Given the description of an element on the screen output the (x, y) to click on. 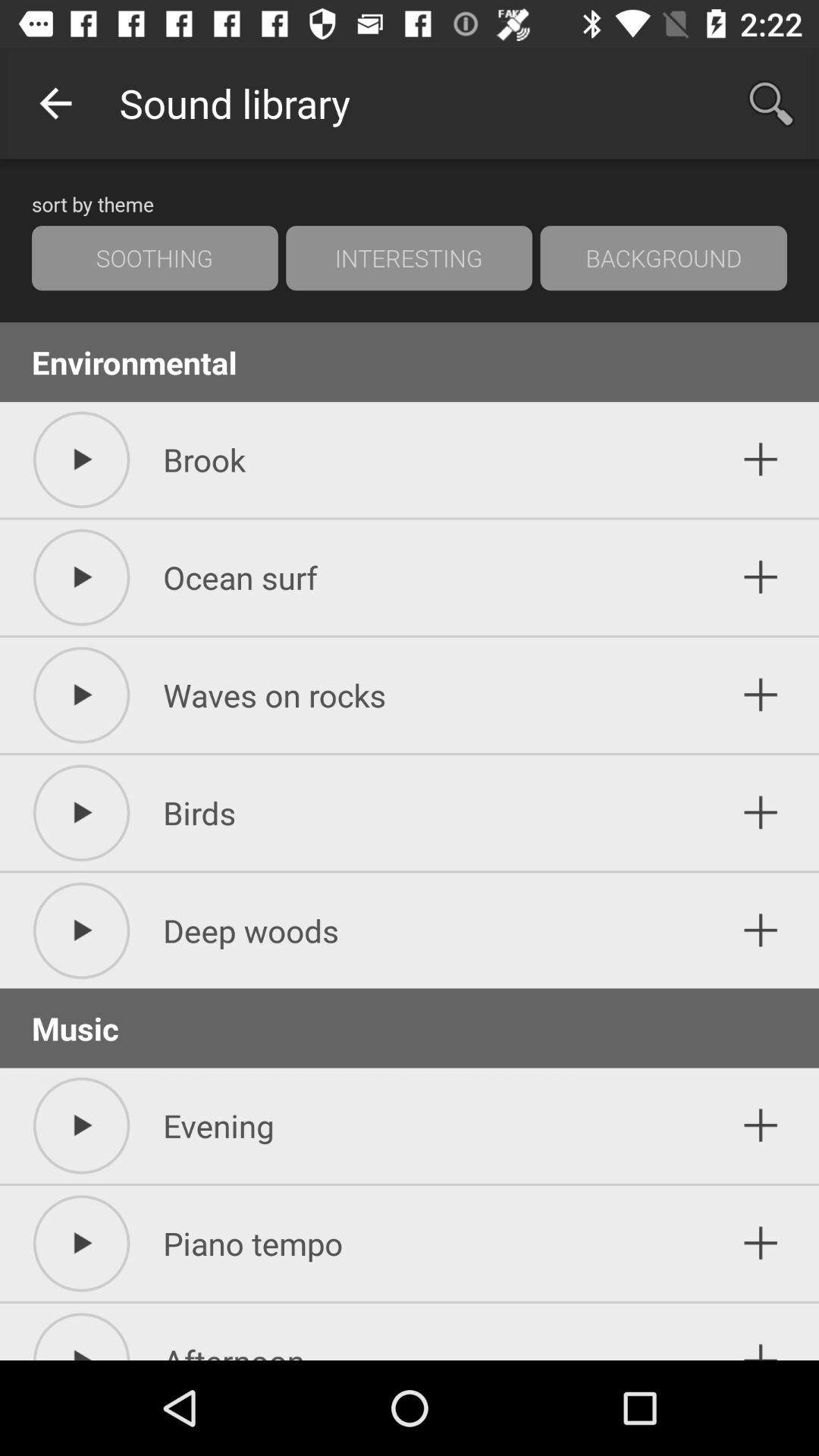
this lable in adding option (761, 695)
